Given the description of an element on the screen output the (x, y) to click on. 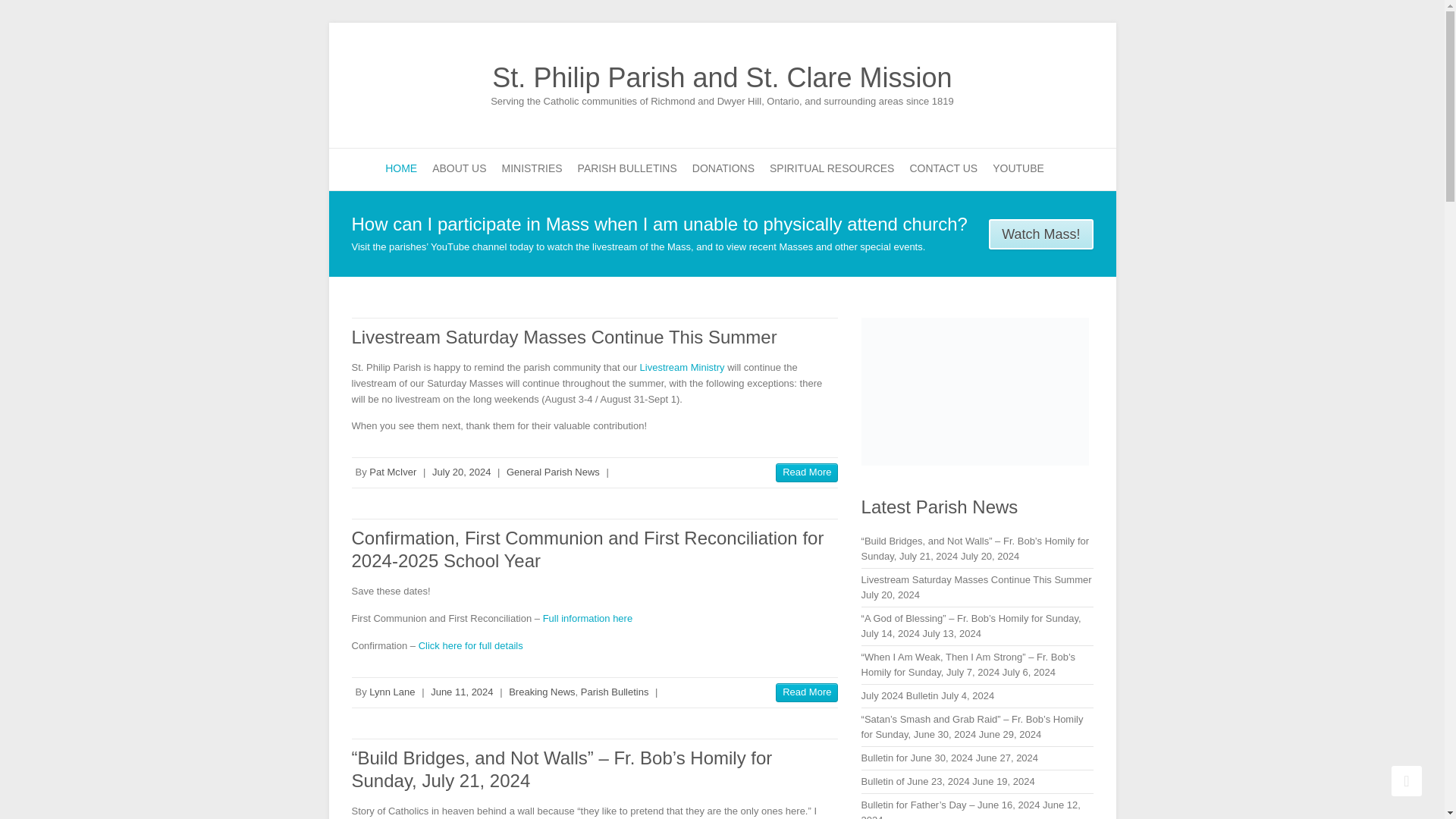
ABOUT US (459, 169)
Livestream Saturday Masses Continue This Summer (807, 472)
Parish Bulletins (614, 691)
General Parish News (552, 471)
PARISH BULLETINS (627, 169)
Livestream Saturday Masses Continue This Summer (564, 336)
DONATIONS (723, 169)
St. Philip Parish and St. Clare Mission (722, 78)
Full information here (588, 618)
10:31 am (461, 471)
12:35 pm (461, 691)
CONTACT US (942, 169)
July 20, 2024 (461, 471)
Click here for full details (470, 645)
June 11, 2024 (461, 691)
